Given the description of an element on the screen output the (x, y) to click on. 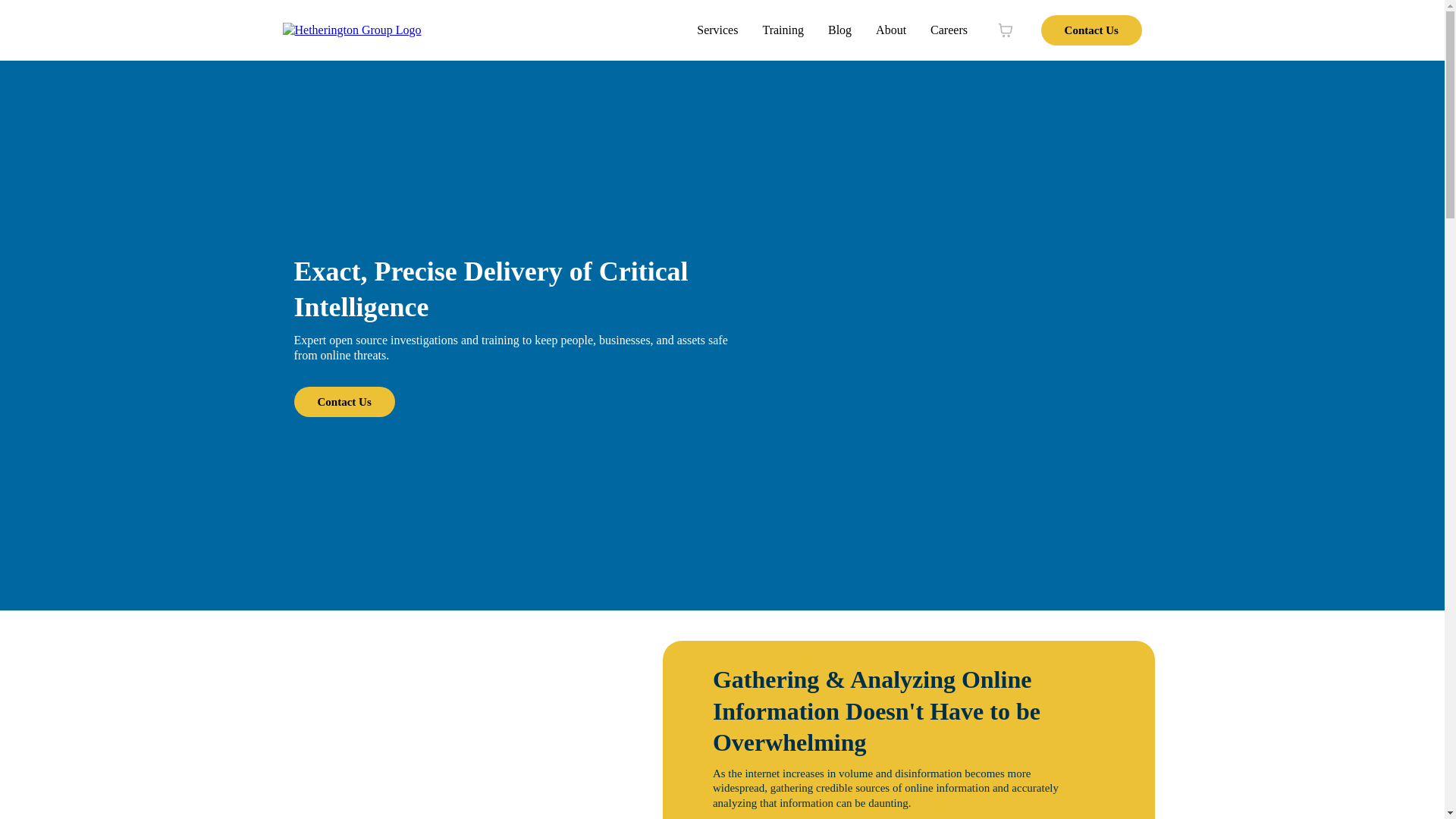
Services (716, 30)
Contact Us (344, 401)
Training (782, 30)
Careers (948, 30)
Contact Us (1091, 30)
About (890, 30)
Blog (839, 30)
